Given the description of an element on the screen output the (x, y) to click on. 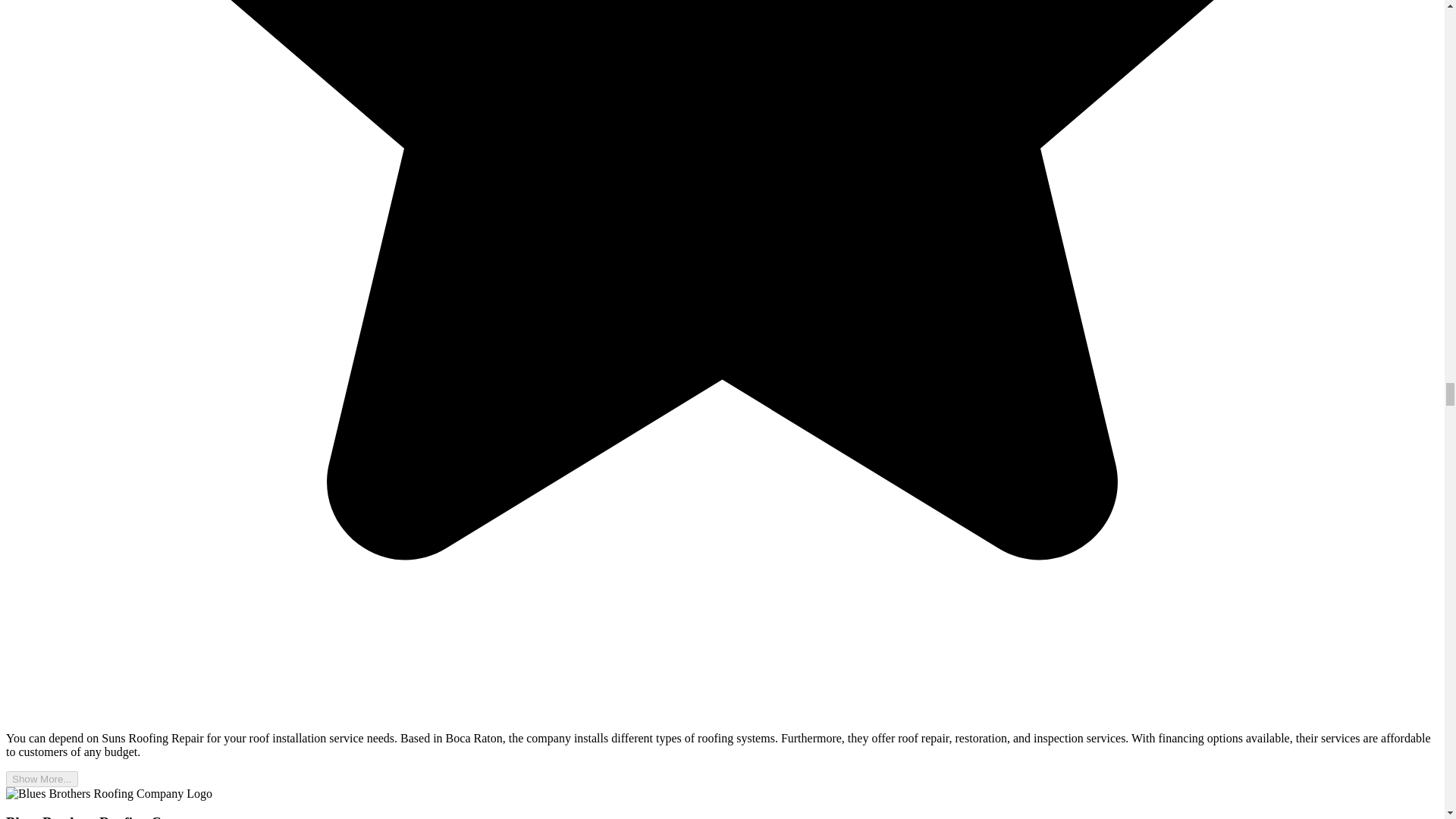
Show More... (41, 779)
